Given the description of an element on the screen output the (x, y) to click on. 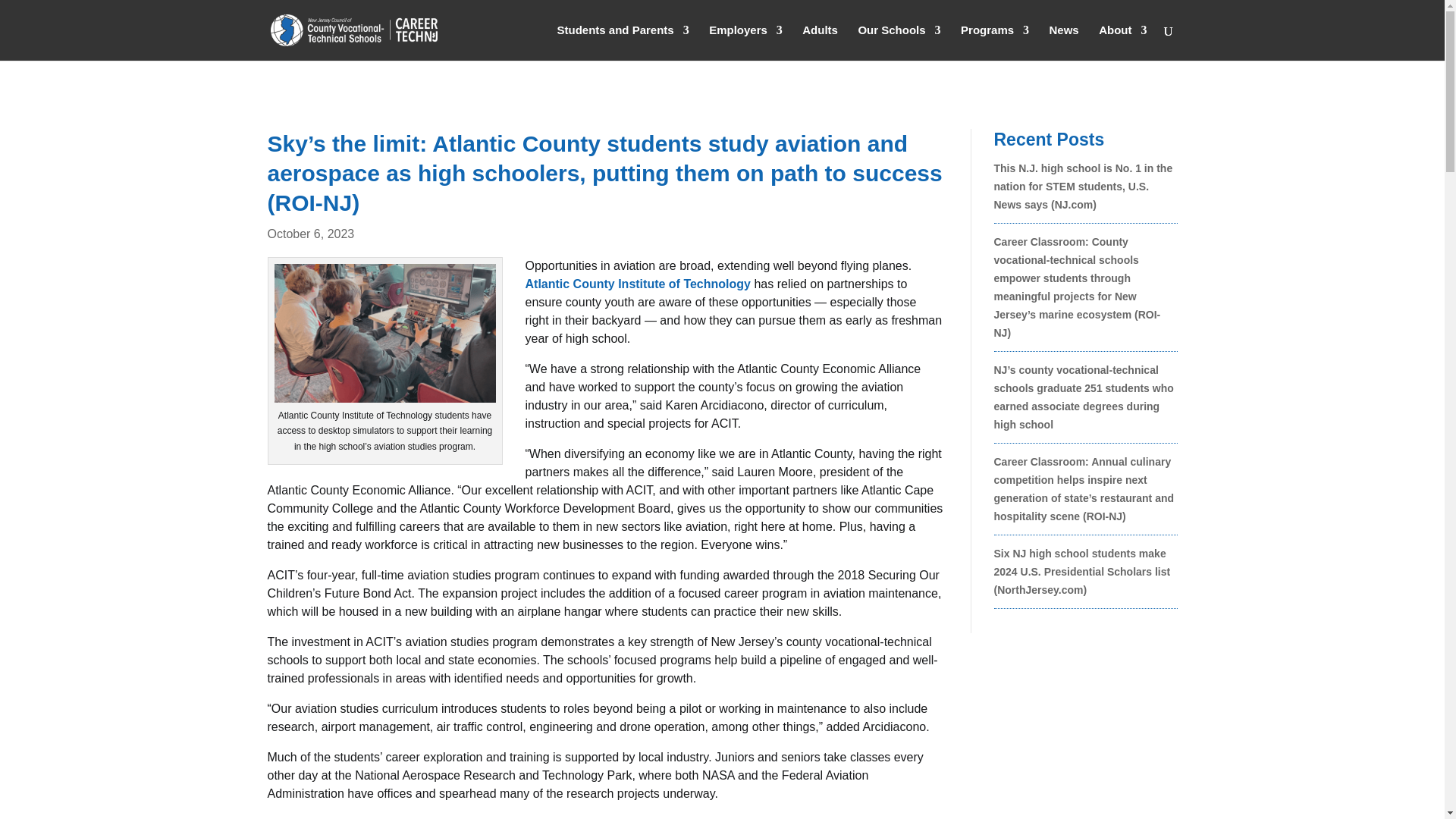
Adults (820, 42)
Programs (994, 42)
Employers (746, 42)
Students and Parents (622, 42)
Our Schools (898, 42)
